Given the description of an element on the screen output the (x, y) to click on. 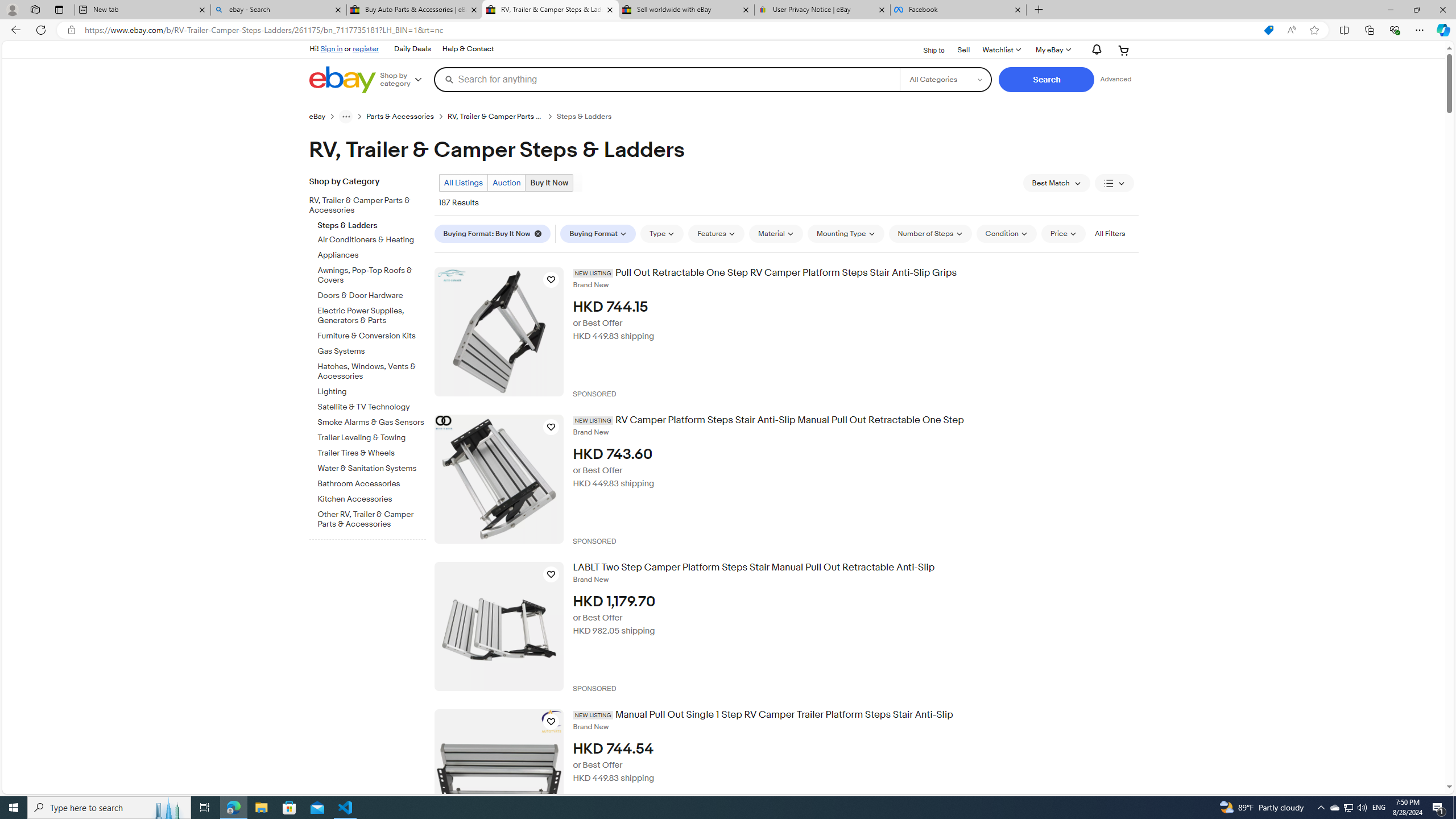
WatchlistExpand Watch List (1000, 49)
eBay Home (341, 79)
Bathroom Accessories (371, 481)
Auction (505, 182)
eBay Home (341, 79)
Gas Systems (371, 351)
All Listings (463, 182)
Lighting (371, 391)
Sort: Best Match (1056, 182)
RV, Trailer & Camper Parts & Accessories (362, 205)
Air Conditioners & Heating (371, 237)
